Given the description of an element on the screen output the (x, y) to click on. 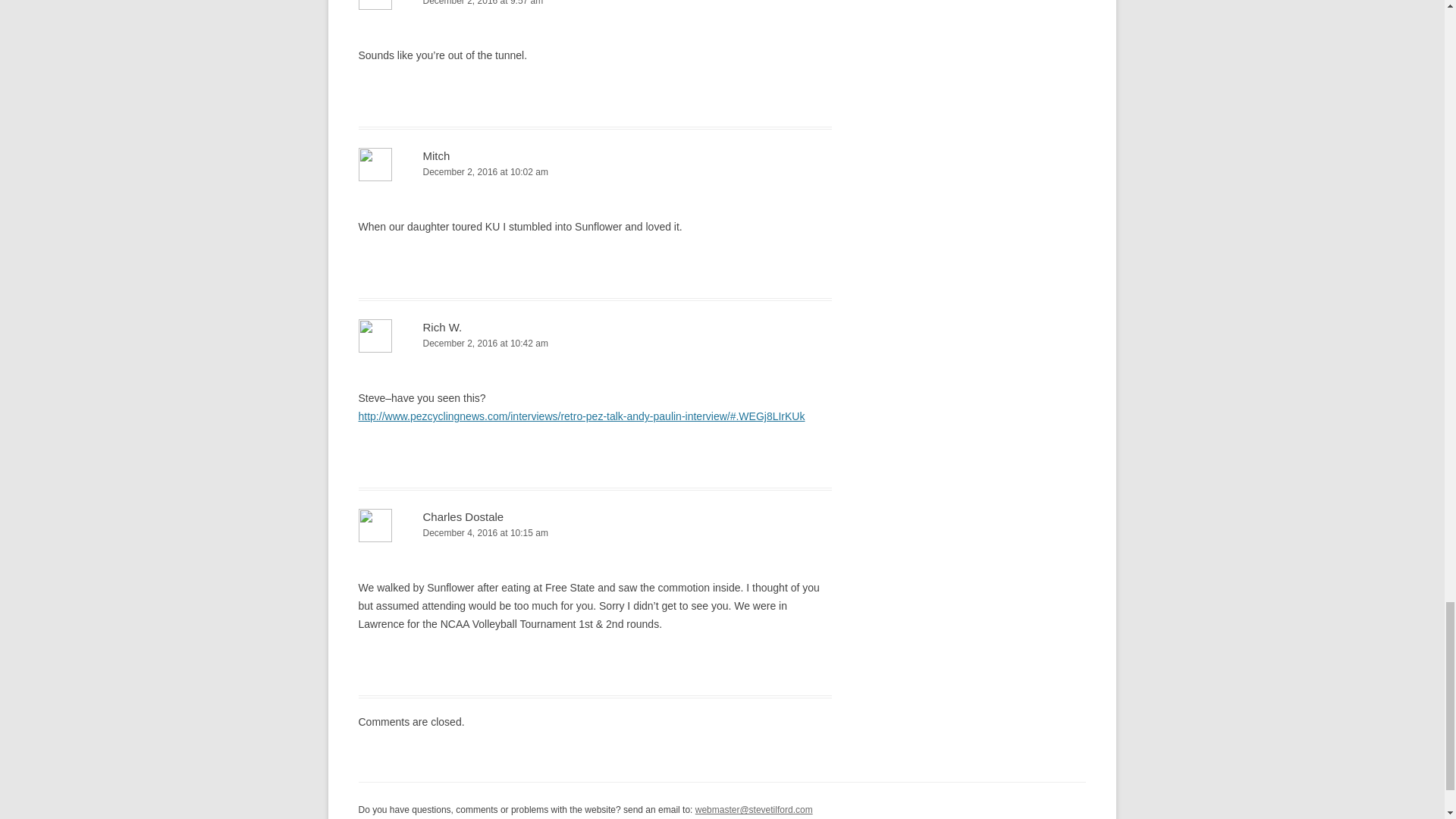
December 2, 2016 at 10:42 am (594, 343)
December 2, 2016 at 9:57 am (594, 4)
December 2, 2016 at 10:02 am (594, 172)
Charles Dostale (463, 516)
December 4, 2016 at 10:15 am (594, 533)
